Given the description of an element on the screen output the (x, y) to click on. 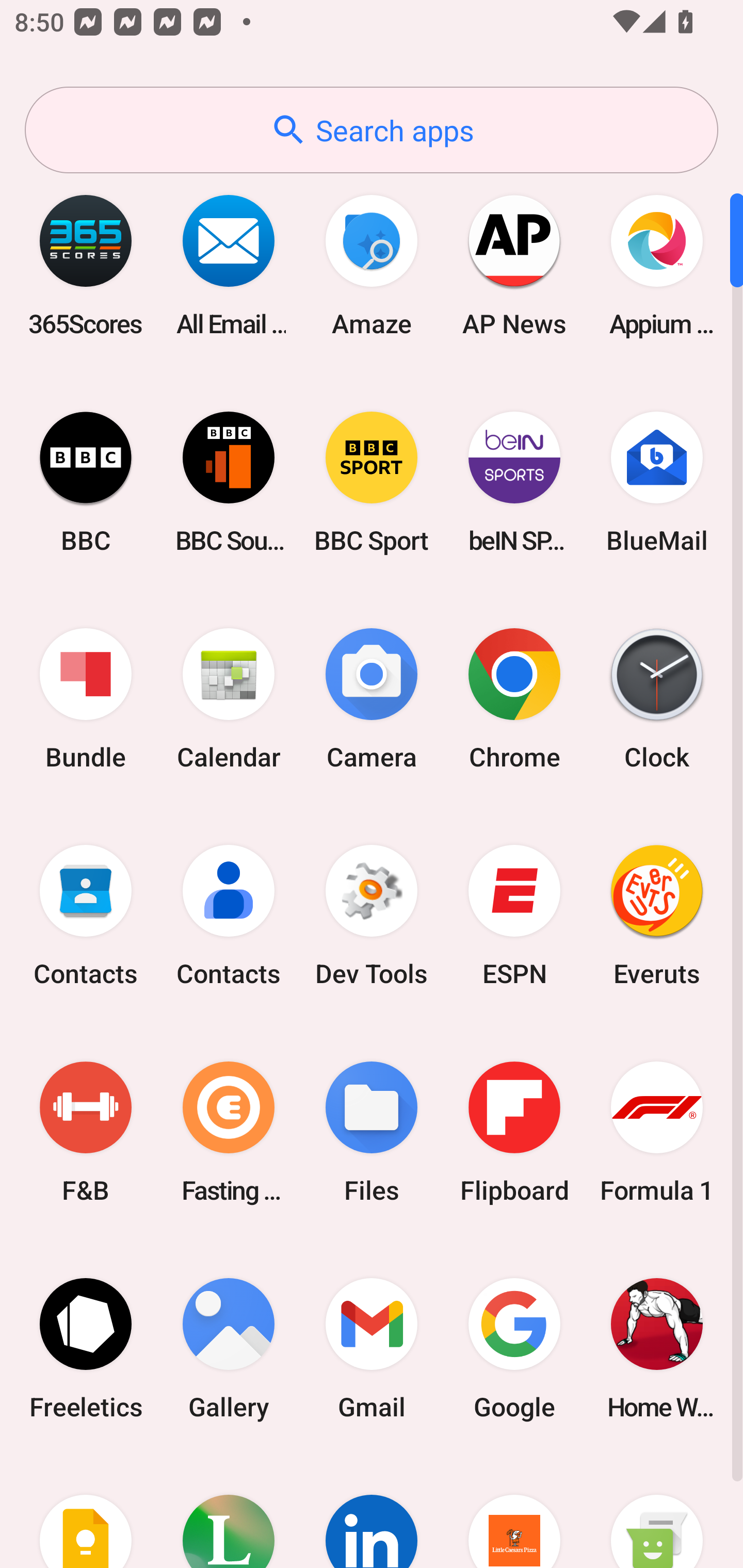
  Search apps (371, 130)
365Scores (85, 264)
All Email Connect (228, 264)
Amaze (371, 264)
AP News (514, 264)
Appium Settings (656, 264)
BBC (85, 482)
BBC Sounds (228, 482)
BBC Sport (371, 482)
beIN SPORTS (514, 482)
BlueMail (656, 482)
Bundle (85, 699)
Calendar (228, 699)
Camera (371, 699)
Chrome (514, 699)
Clock (656, 699)
Contacts (85, 915)
Contacts (228, 915)
Dev Tools (371, 915)
ESPN (514, 915)
Everuts (656, 915)
F&B (85, 1131)
Fasting Coach (228, 1131)
Files (371, 1131)
Flipboard (514, 1131)
Formula 1 (656, 1131)
Freeletics (85, 1348)
Gallery (228, 1348)
Gmail (371, 1348)
Google (514, 1348)
Home Workout (656, 1348)
Keep Notes (85, 1512)
Lifesum (228, 1512)
LinkedIn (371, 1512)
Little Caesars Pizza (514, 1512)
Messaging (656, 1512)
